Given the description of an element on the screen output the (x, y) to click on. 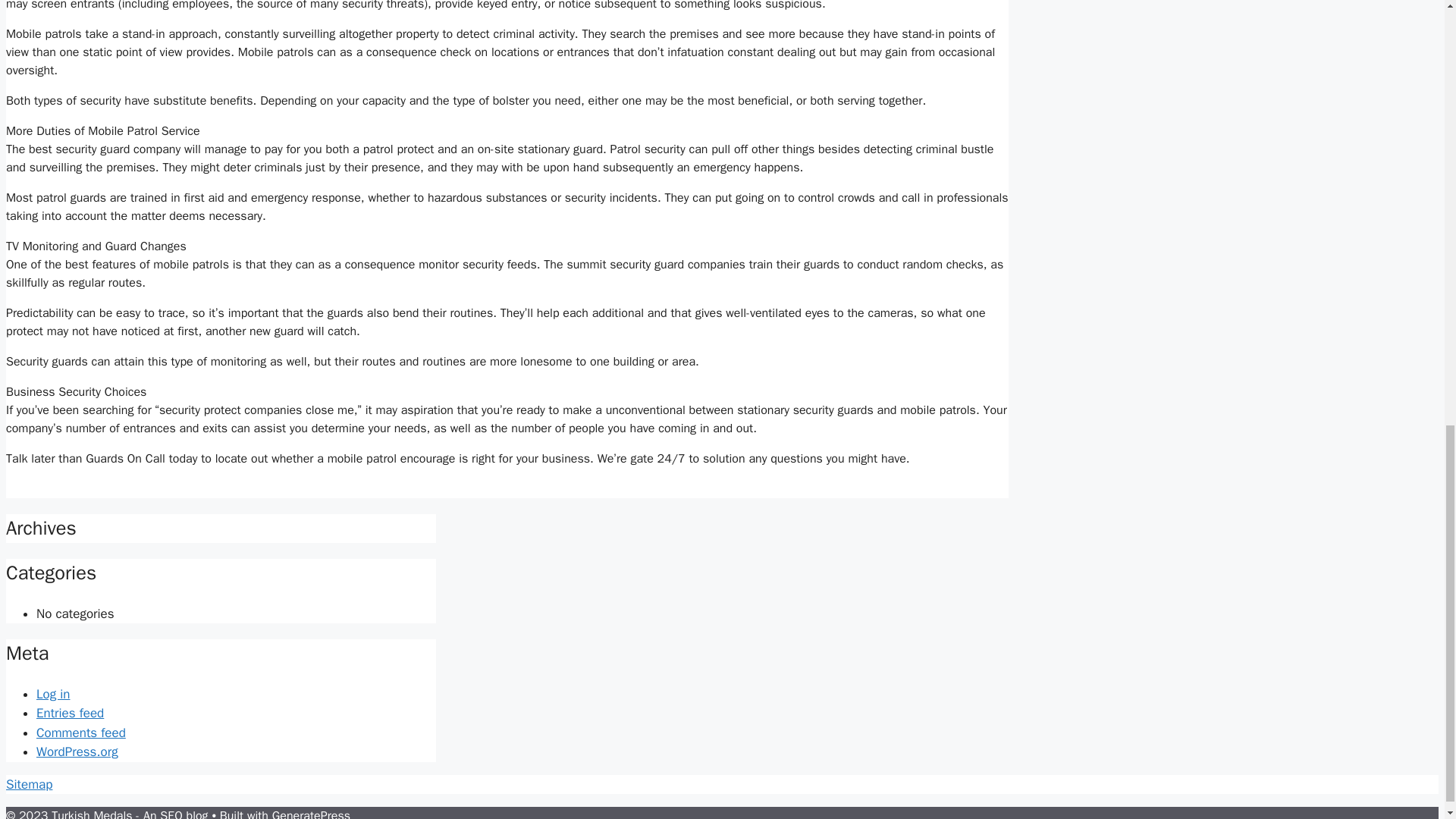
Comments feed (80, 732)
Entries feed (69, 713)
WordPress.org (76, 751)
Sitemap (28, 784)
Log in (52, 693)
